Given the description of an element on the screen output the (x, y) to click on. 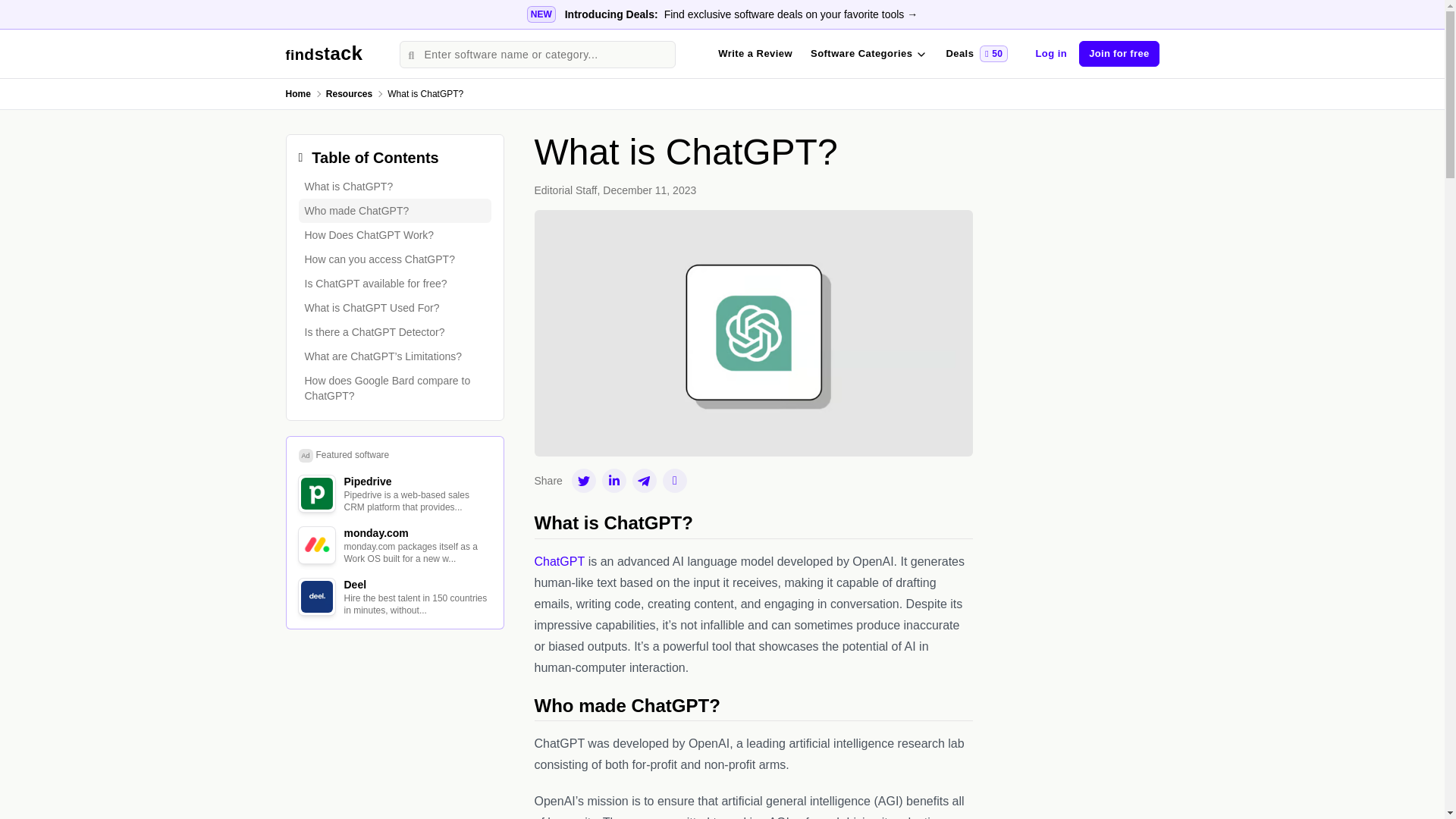
Deel (315, 596)
Who made ChatGPT? (395, 210)
Pipedrive (315, 493)
How can you access ChatGPT? (976, 53)
Log in (395, 259)
Resources (1051, 53)
What is ChatGPT? (349, 93)
Submit (395, 186)
Is ChatGPT available for free? (22, 10)
monday.com (395, 283)
How Does ChatGPT Work? (315, 545)
Join for free (323, 54)
Write a Review (395, 234)
